Given the description of an element on the screen output the (x, y) to click on. 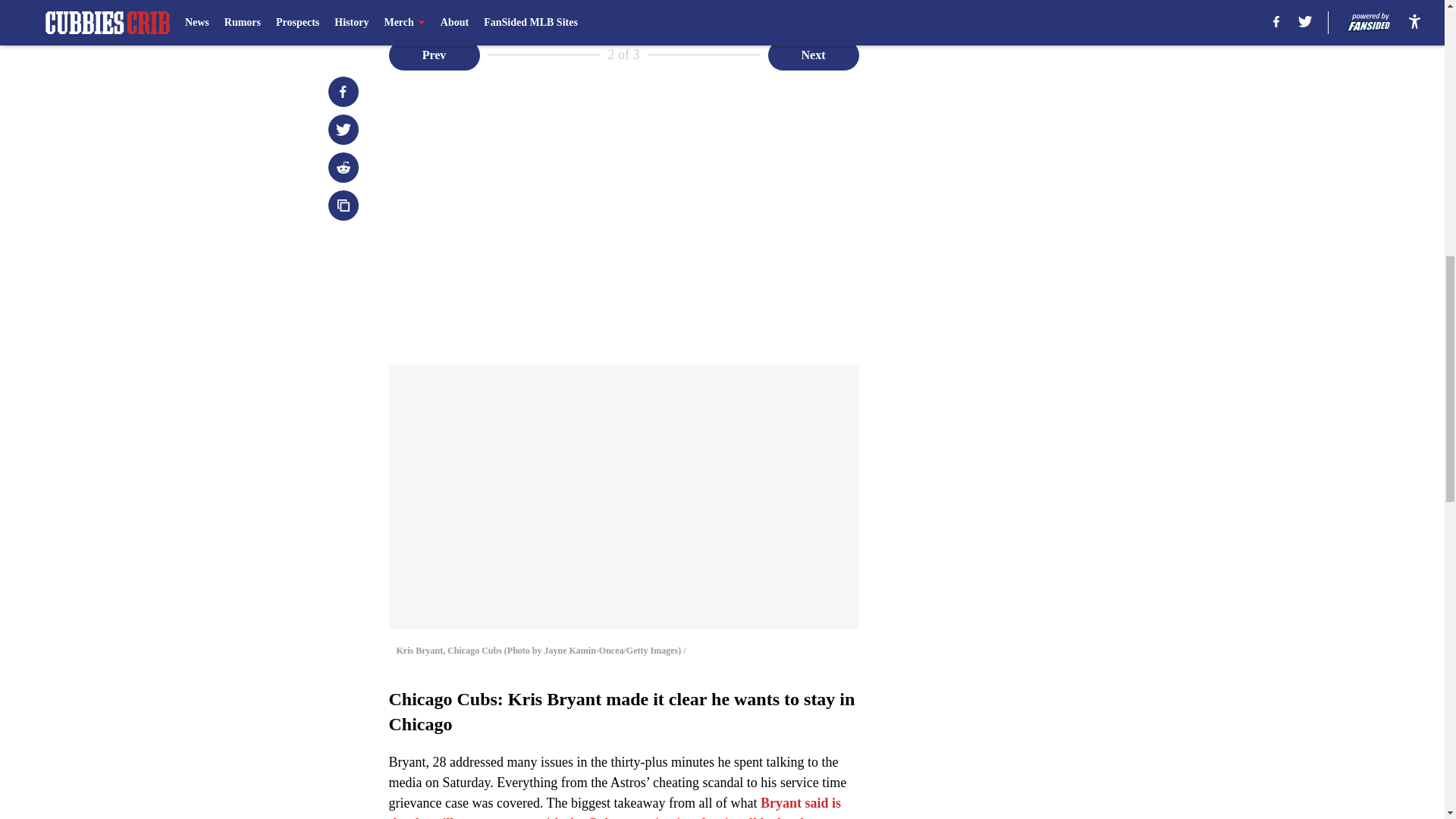
Next (813, 54)
Prev (433, 54)
